Given the description of an element on the screen output the (x, y) to click on. 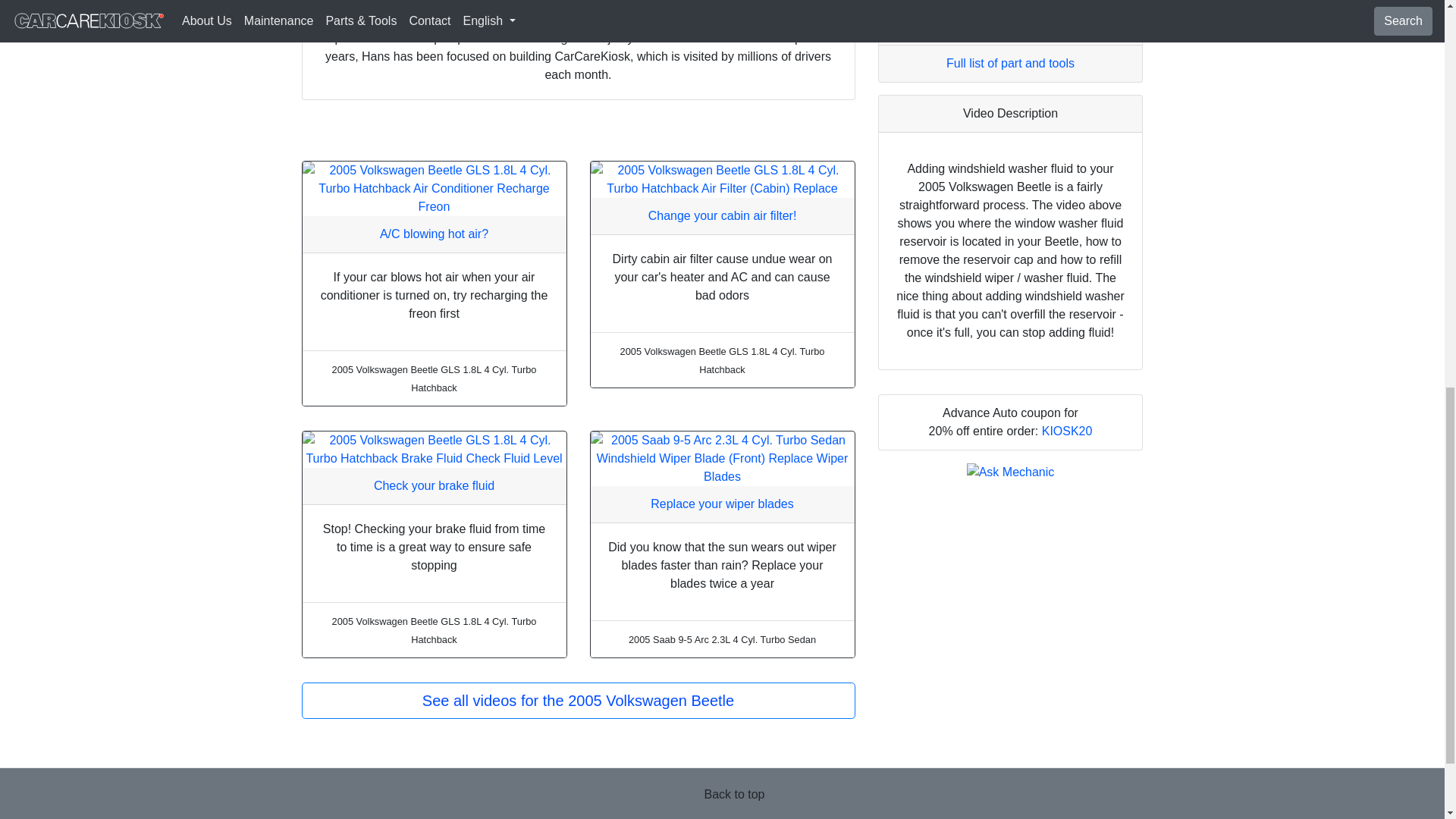
Back to top (734, 794)
KIOSK20 (1067, 431)
Replace your wiper blades (721, 503)
Hans Angermeier (390, 4)
See all videos for the 2005 Volkswagen Beetle (578, 700)
Check your brake fluid (434, 485)
Full list of part and tools (1010, 62)
Change your cabin air filter! (721, 215)
